Given the description of an element on the screen output the (x, y) to click on. 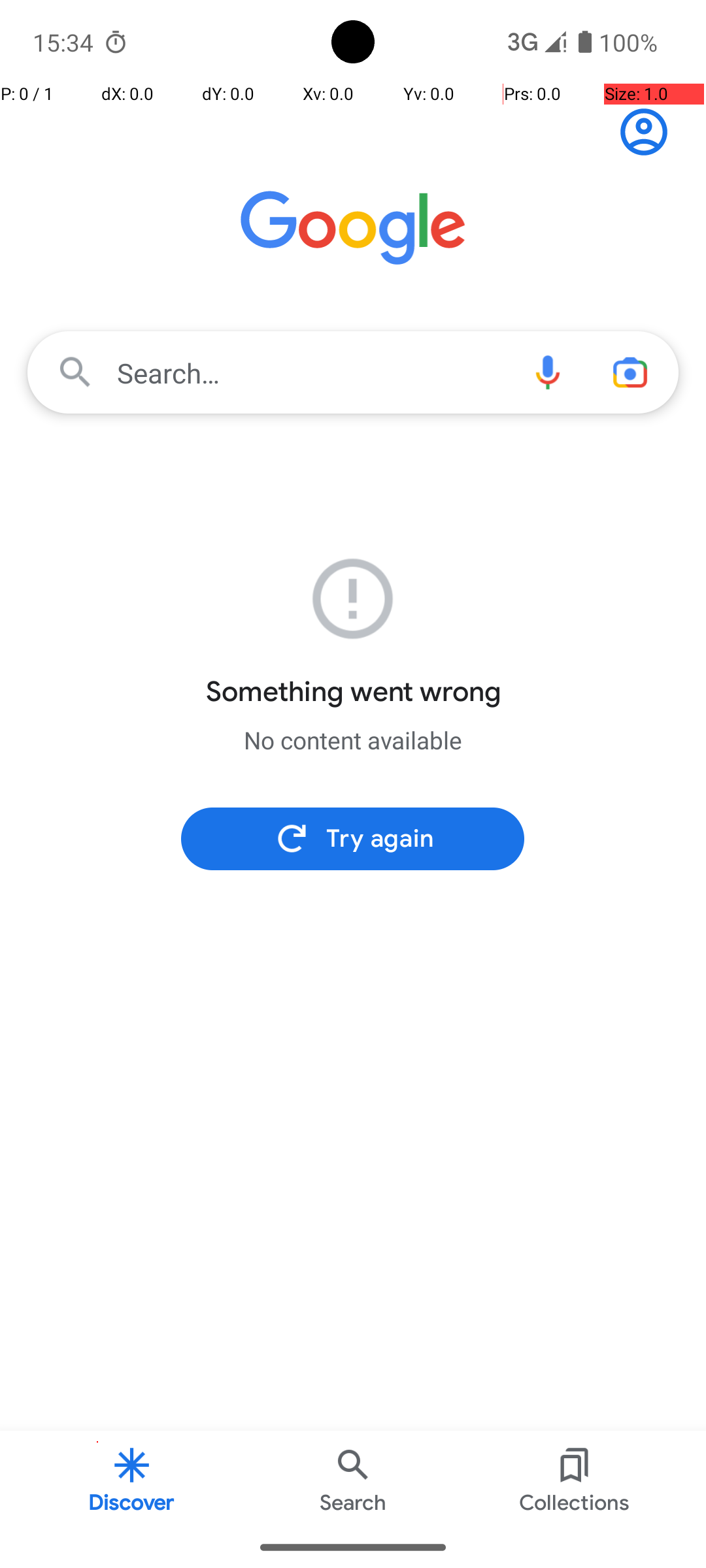
Something went wrong Element type: android.widget.TextView (352, 691)
No content available Element type: android.widget.TextView (352, 739)
